Given the description of an element on the screen output the (x, y) to click on. 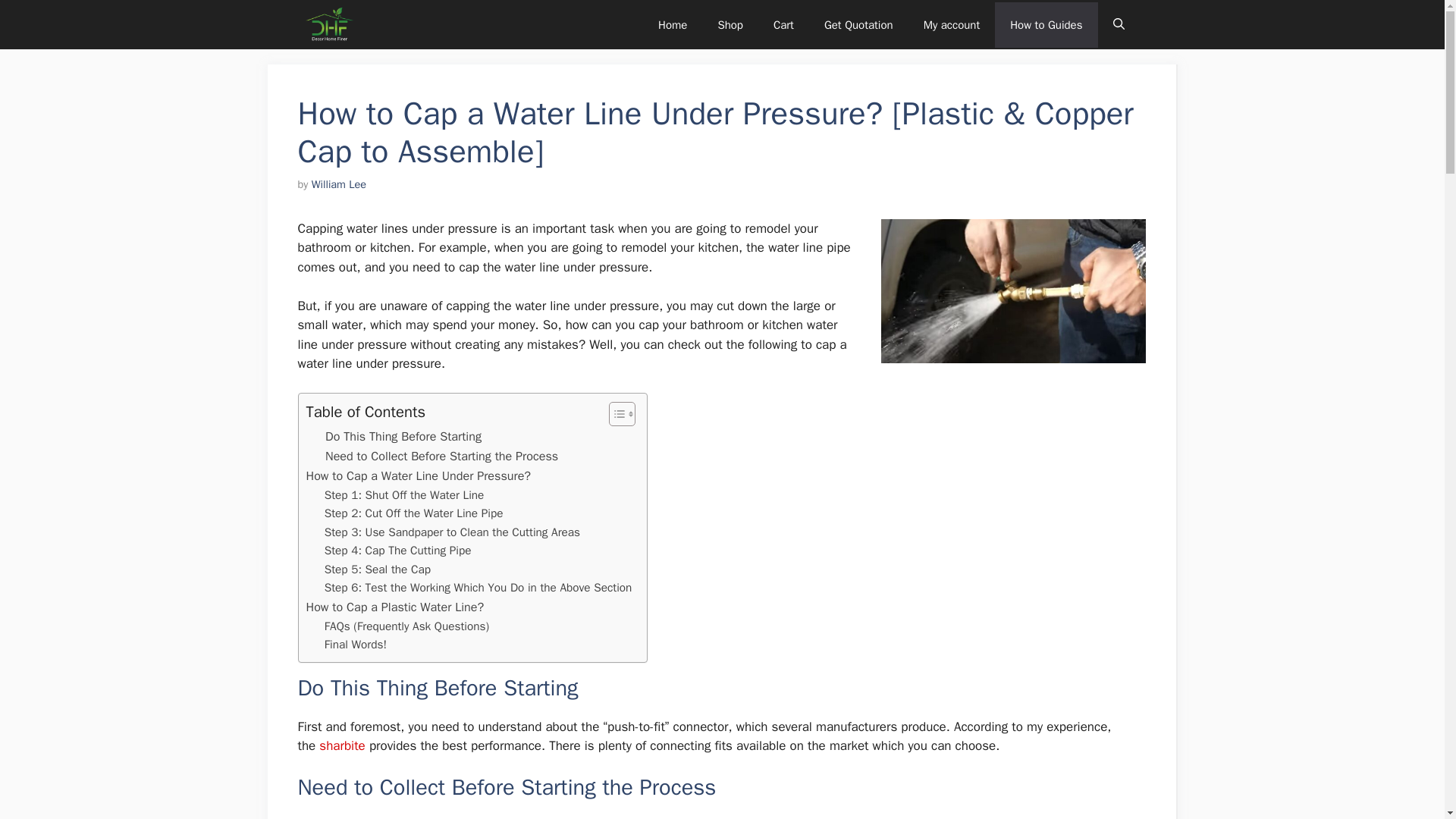
Cart (783, 23)
William Lee (338, 183)
Step 2: Cut Off the Water Line Pipe (413, 513)
How to Cap a Plastic Water Line? (394, 607)
Step 3: Use Sandpaper to Clean the Cutting Areas (451, 532)
Step 1: Shut Off the Water Line (404, 495)
Step 4: Cap The Cutting Pipe (397, 550)
Final Words! (355, 644)
Get Quotation (858, 23)
Need to Collect Before Starting the Process (440, 456)
My account (951, 23)
How to Guides (1045, 23)
Step 3: Use Sandpaper to Clean the Cutting Areas (451, 532)
Step 4: Cap The Cutting Pipe (397, 550)
Shop (729, 23)
